Given the description of an element on the screen output the (x, y) to click on. 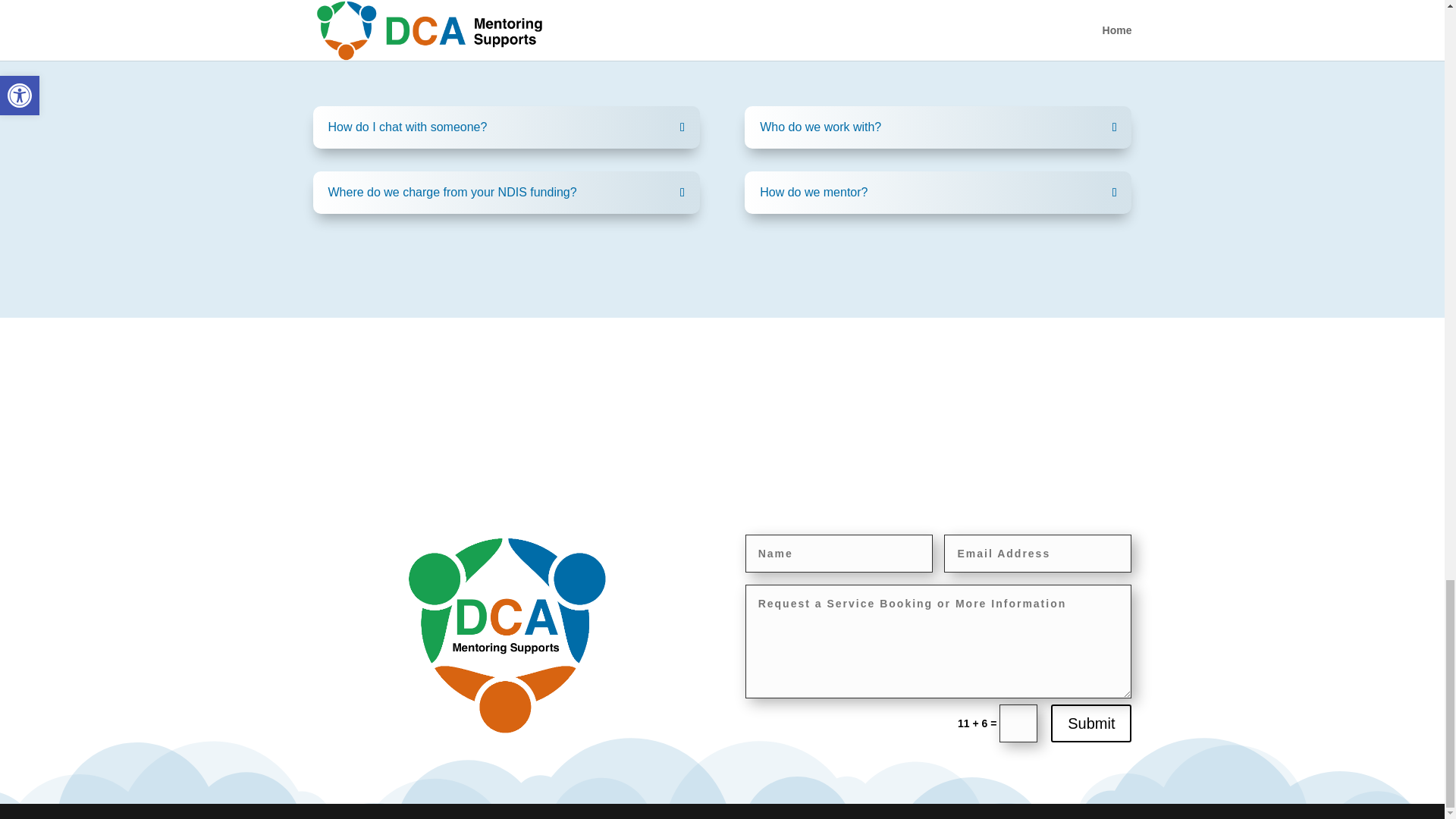
DCAMS logo white (506, 634)
Submit (1091, 723)
